Given the description of an element on the screen output the (x, y) to click on. 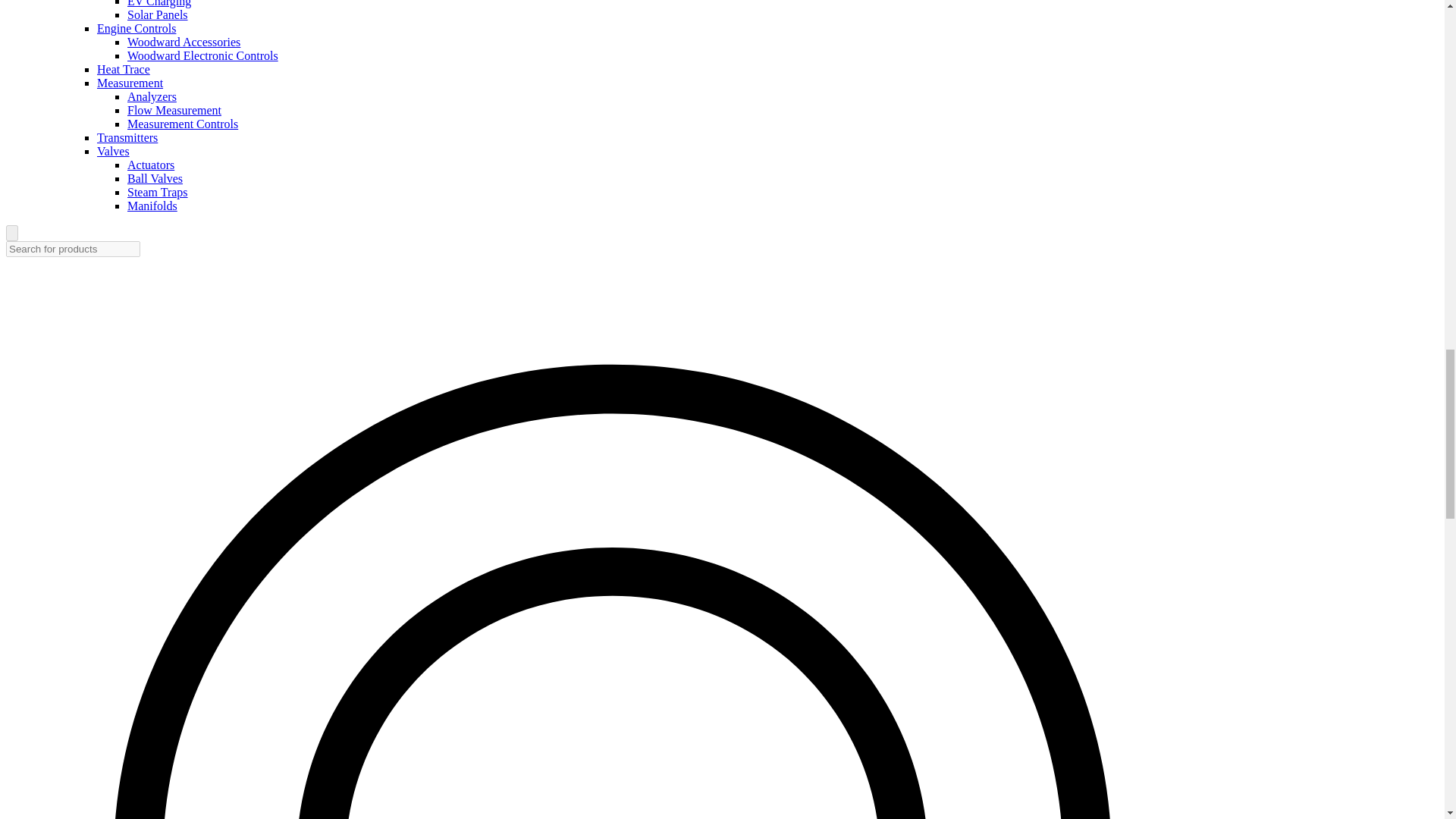
Ball Valves (155, 178)
Flow Measurement (174, 110)
Transmitters (127, 137)
Solar Panels (157, 14)
EV Charging (159, 3)
Actuators (151, 164)
Woodward Accessories (184, 42)
Steam Traps (157, 192)
Analyzers (152, 96)
Heat Trace (123, 69)
Woodward Electronic Controls (203, 55)
Valves (113, 151)
Engine Controls (136, 28)
Manifolds (152, 205)
Measurement (130, 82)
